Given the description of an element on the screen output the (x, y) to click on. 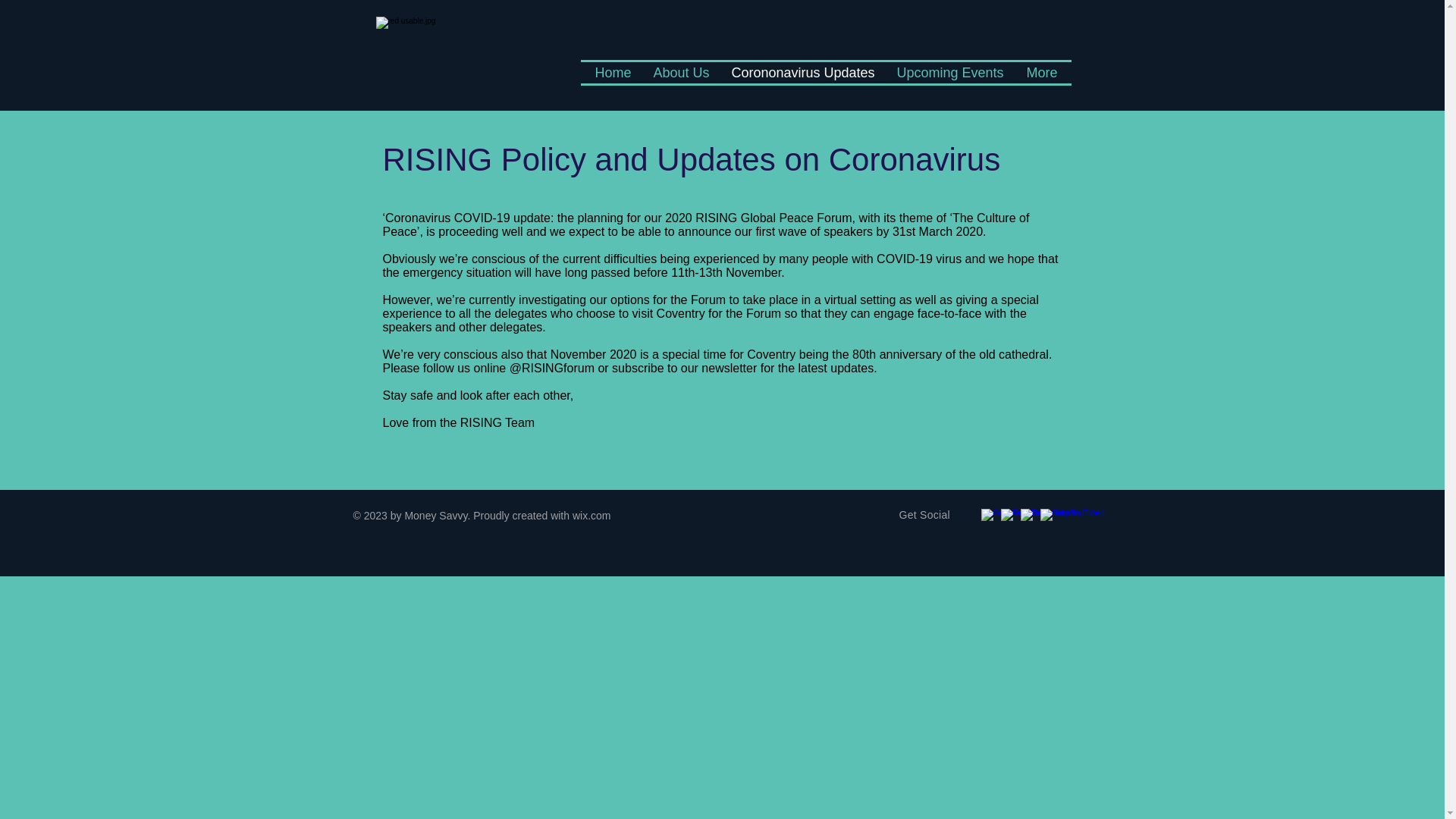
About Us (680, 72)
wix.com (591, 515)
Upcoming Events (949, 72)
Home (612, 72)
Corononavirus Updates (802, 72)
